Given the description of an element on the screen output the (x, y) to click on. 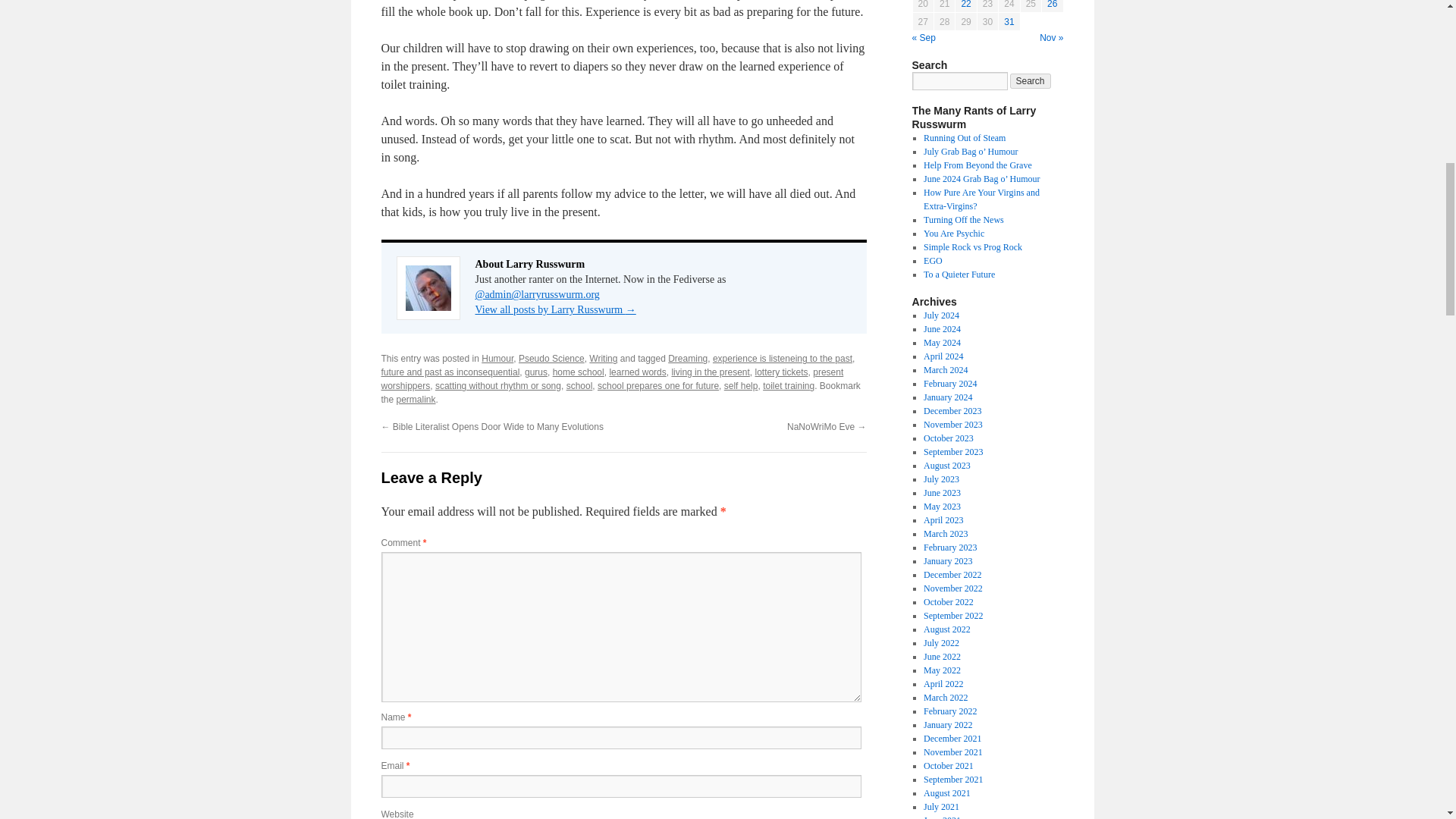
gurus (535, 371)
Humour (497, 357)
home school (578, 371)
Pseudo Science (551, 357)
lottery tickets (781, 371)
Search (1030, 80)
present worshippers (611, 378)
Writing (603, 357)
future and past as inconsequential (449, 371)
learned words (636, 371)
Dreaming (687, 357)
experience is listeneing to the past (782, 357)
Permalink to The Gift We Can Give Our Children (415, 398)
living in the present (710, 371)
